Given the description of an element on the screen output the (x, y) to click on. 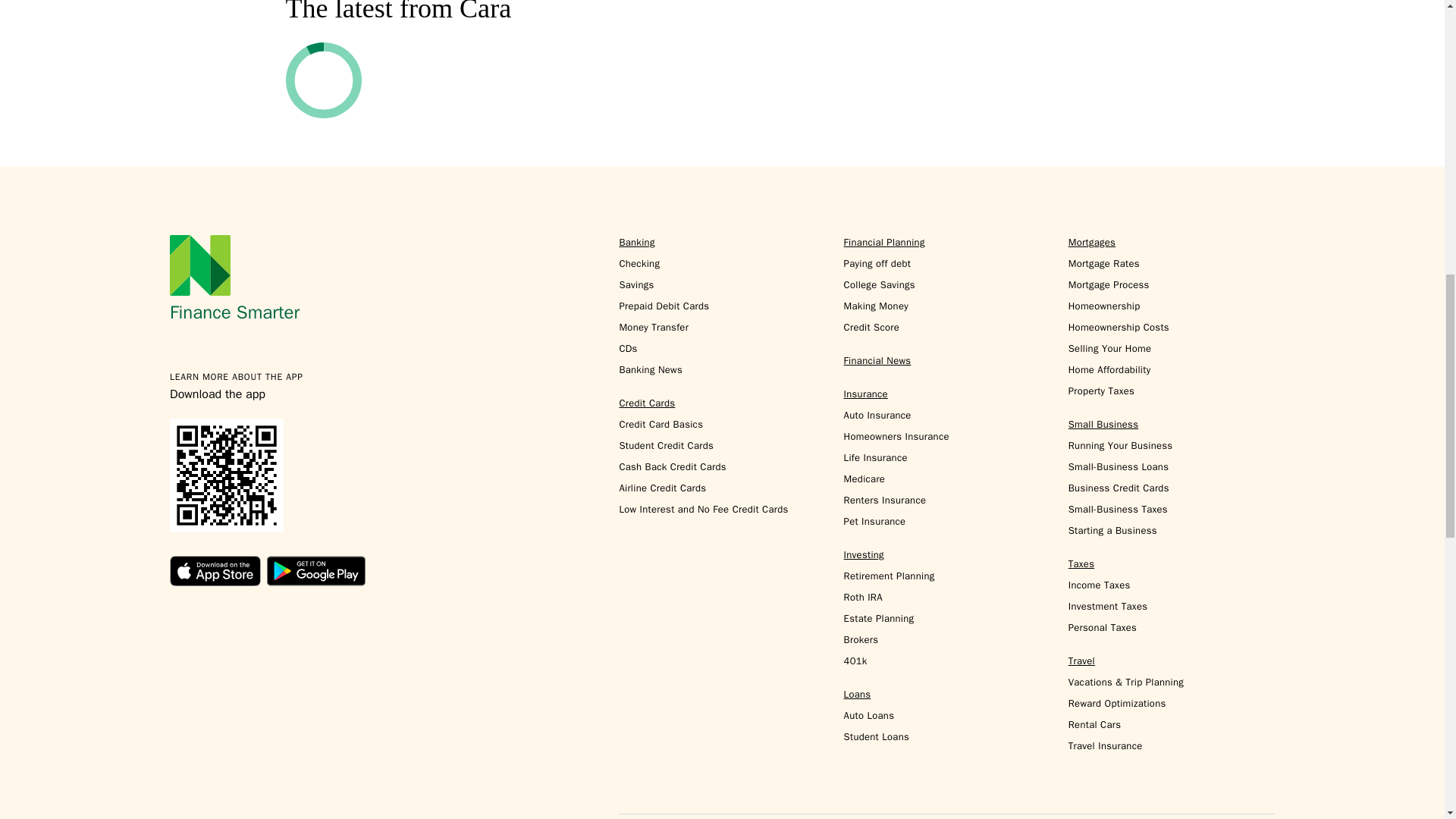
NerdWallet Home Page (200, 265)
Download on the App Store (215, 571)
Get it on Google Play (315, 571)
